Given the description of an element on the screen output the (x, y) to click on. 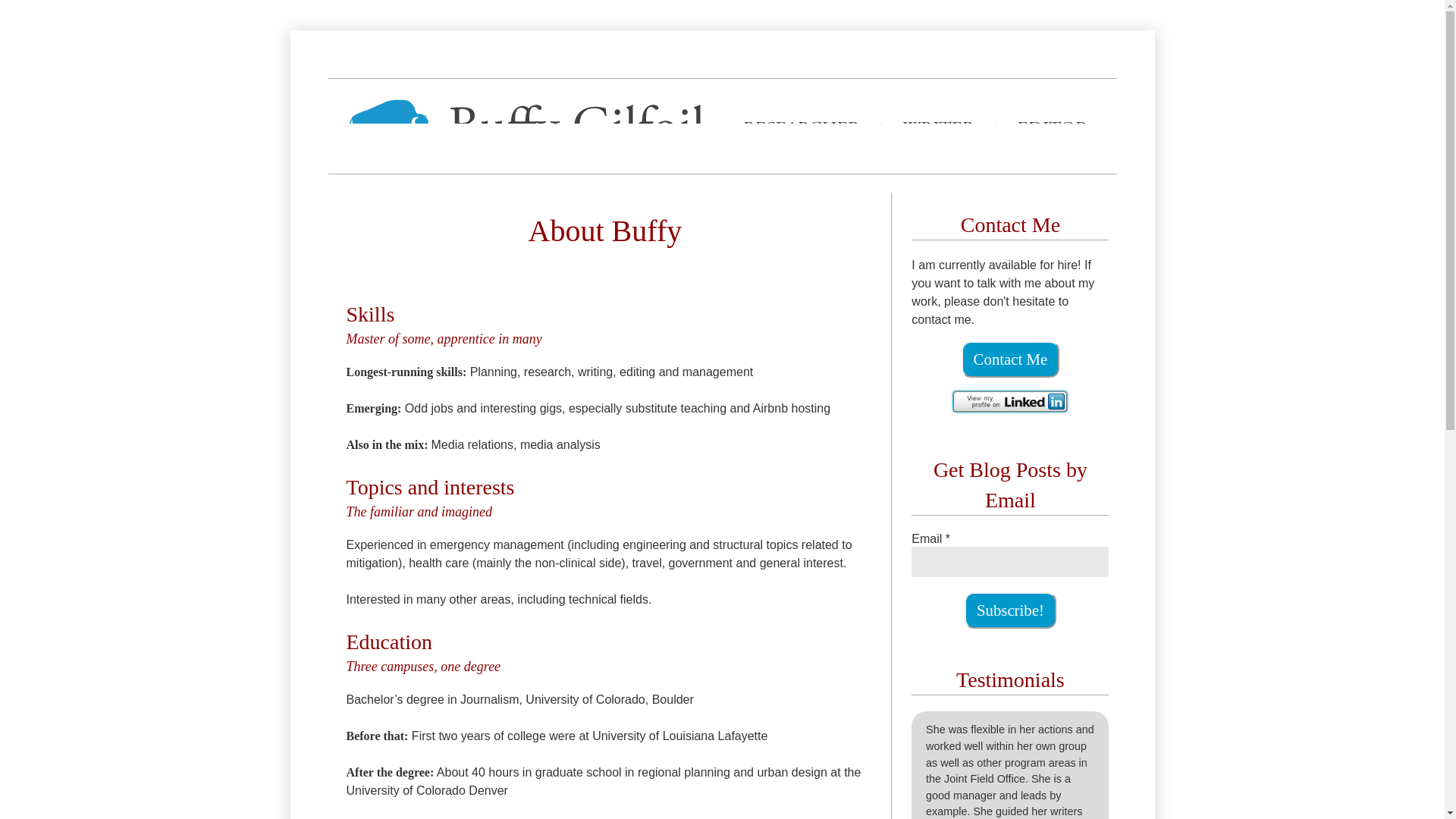
Contact Me (1009, 359)
Contact Me (1009, 359)
Email (1009, 562)
Subscribe! (1010, 610)
View my LinkedIn profile (1010, 401)
Subscribe! (1010, 610)
